Given the description of an element on the screen output the (x, y) to click on. 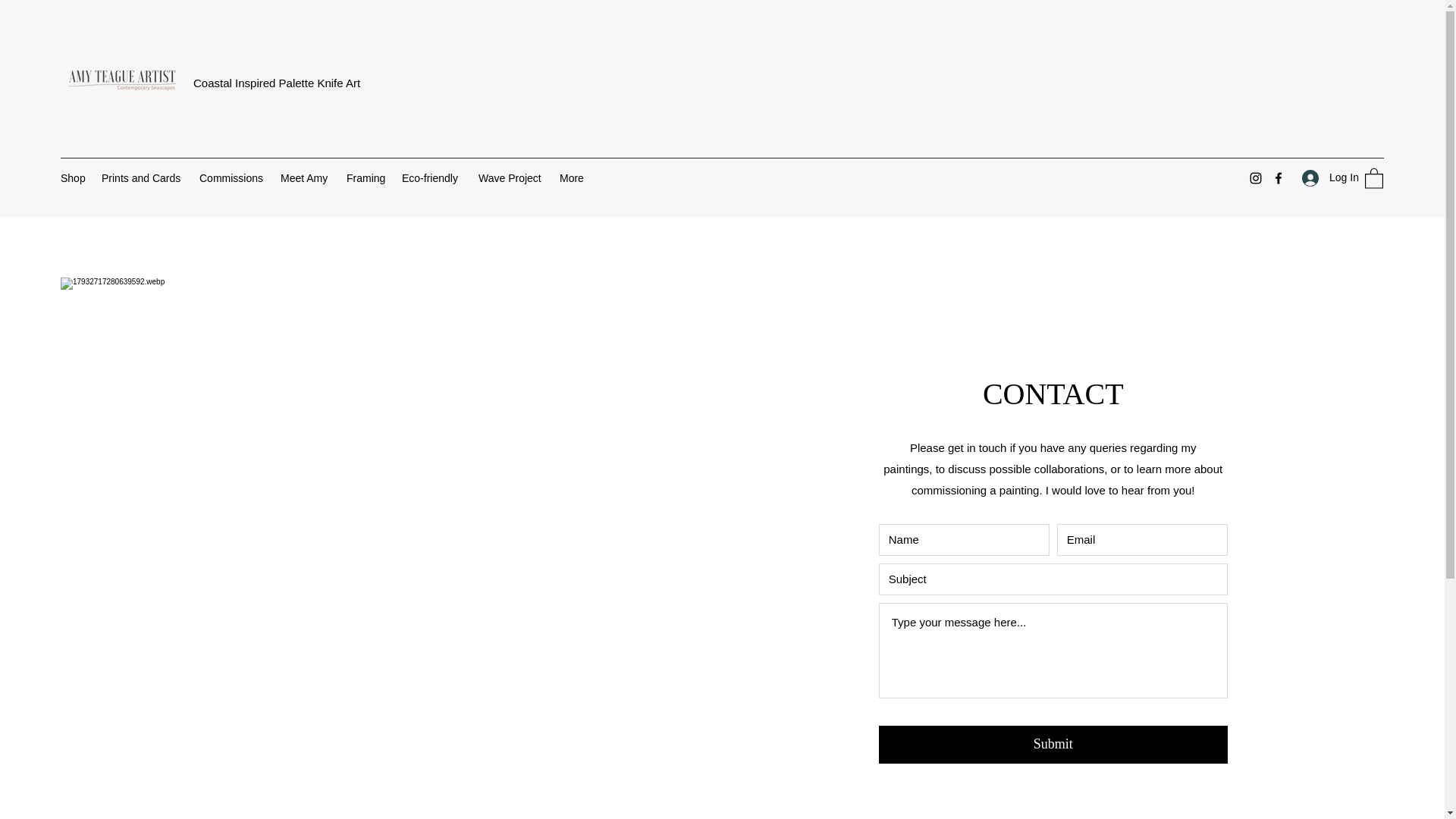
Submit (1053, 744)
Commissions (232, 178)
Log In (1325, 177)
Meet Amy (306, 178)
Wave Project (510, 178)
Framing (366, 178)
Shop (73, 178)
Eco-friendly (432, 178)
Prints and Cards (143, 178)
